Given the description of an element on the screen output the (x, y) to click on. 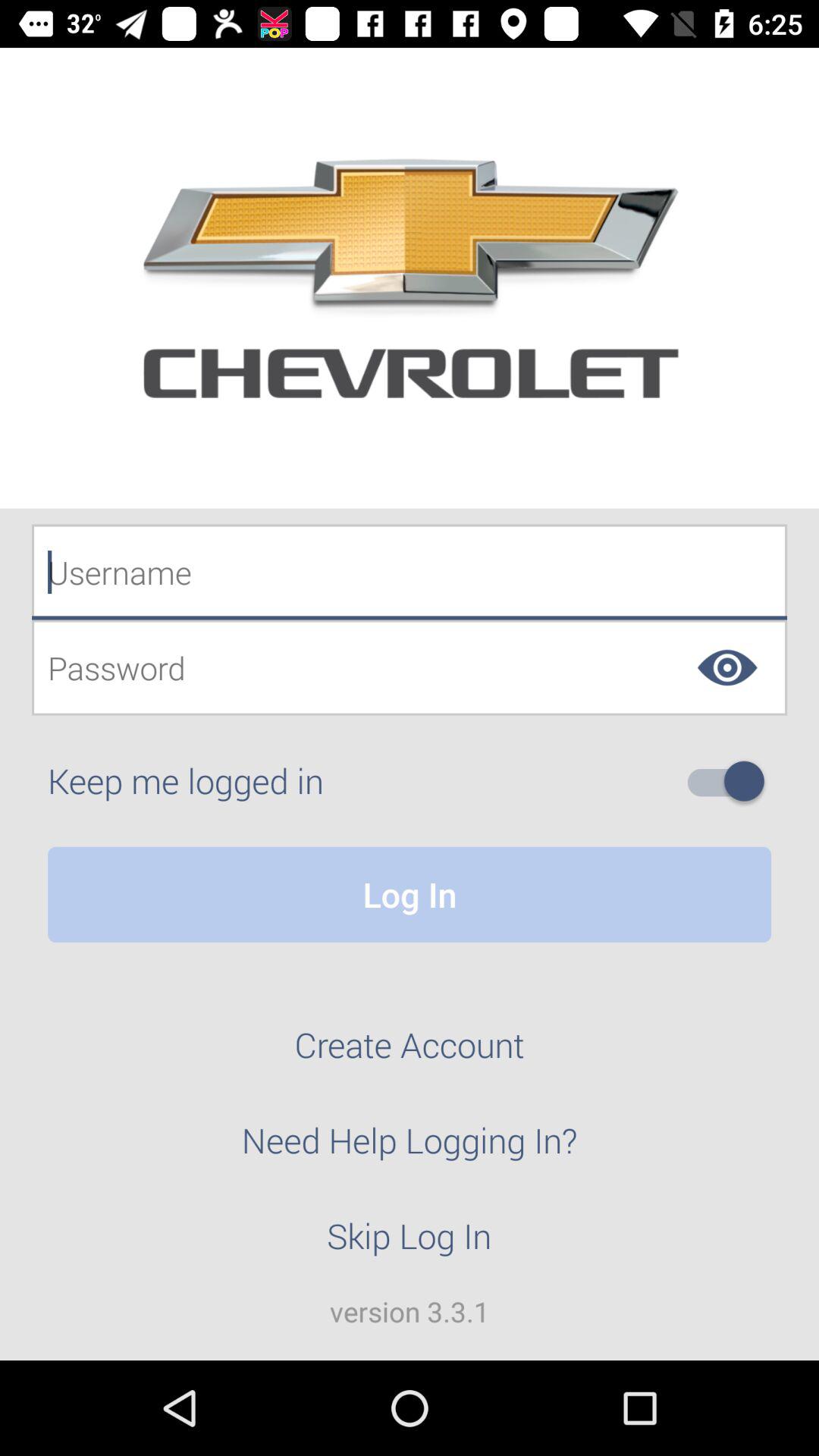
swipe to create account (409, 1053)
